Given the description of an element on the screen output the (x, y) to click on. 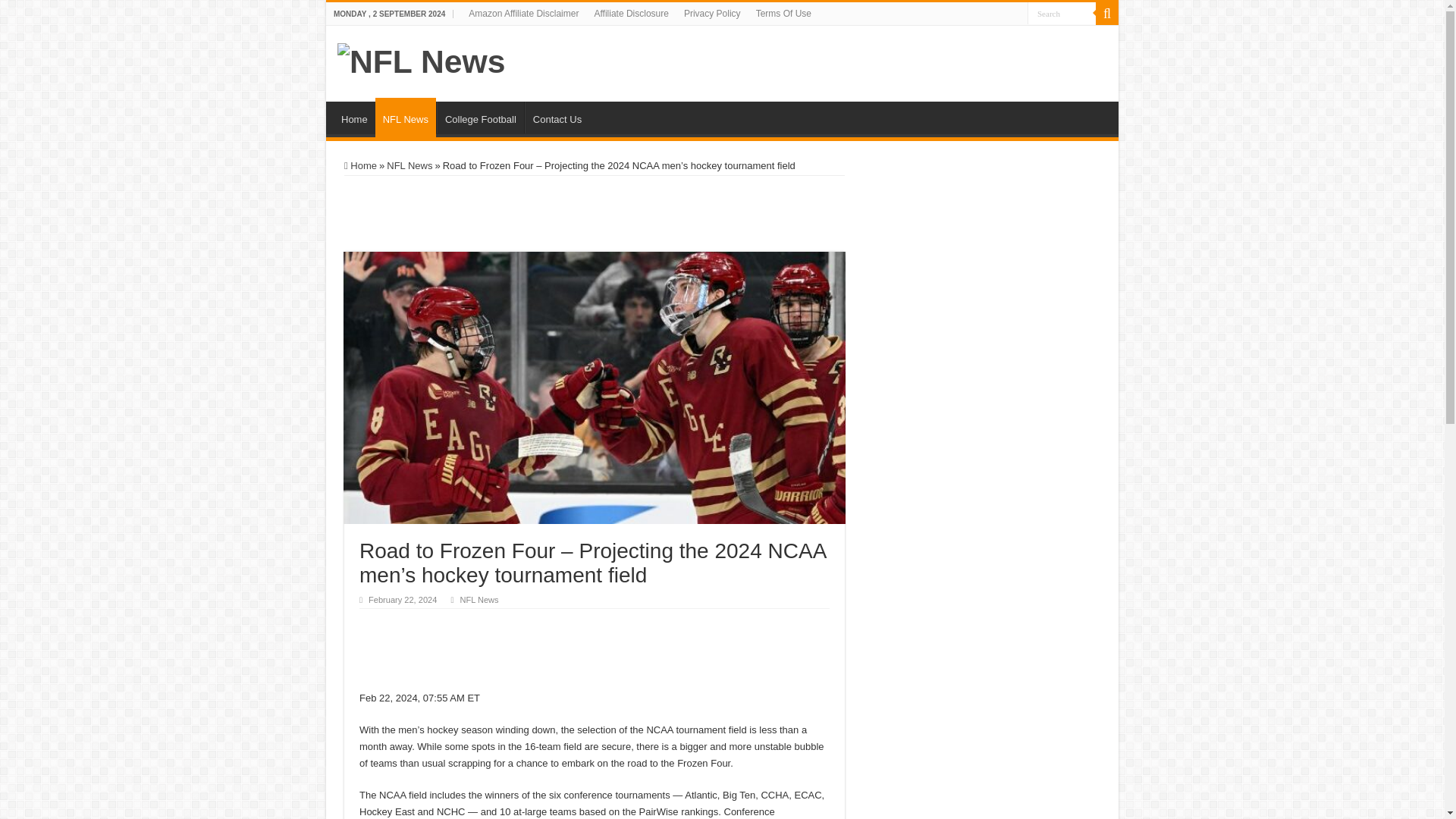
NFL News (421, 58)
NFL News (478, 599)
Amazon Affiliate Disclaimer (523, 13)
Home (360, 165)
Search (1061, 13)
Search (1107, 13)
Affiliate Disclosure (630, 13)
NFL News (405, 117)
Search (1061, 13)
Privacy Policy (712, 13)
